Given the description of an element on the screen output the (x, y) to click on. 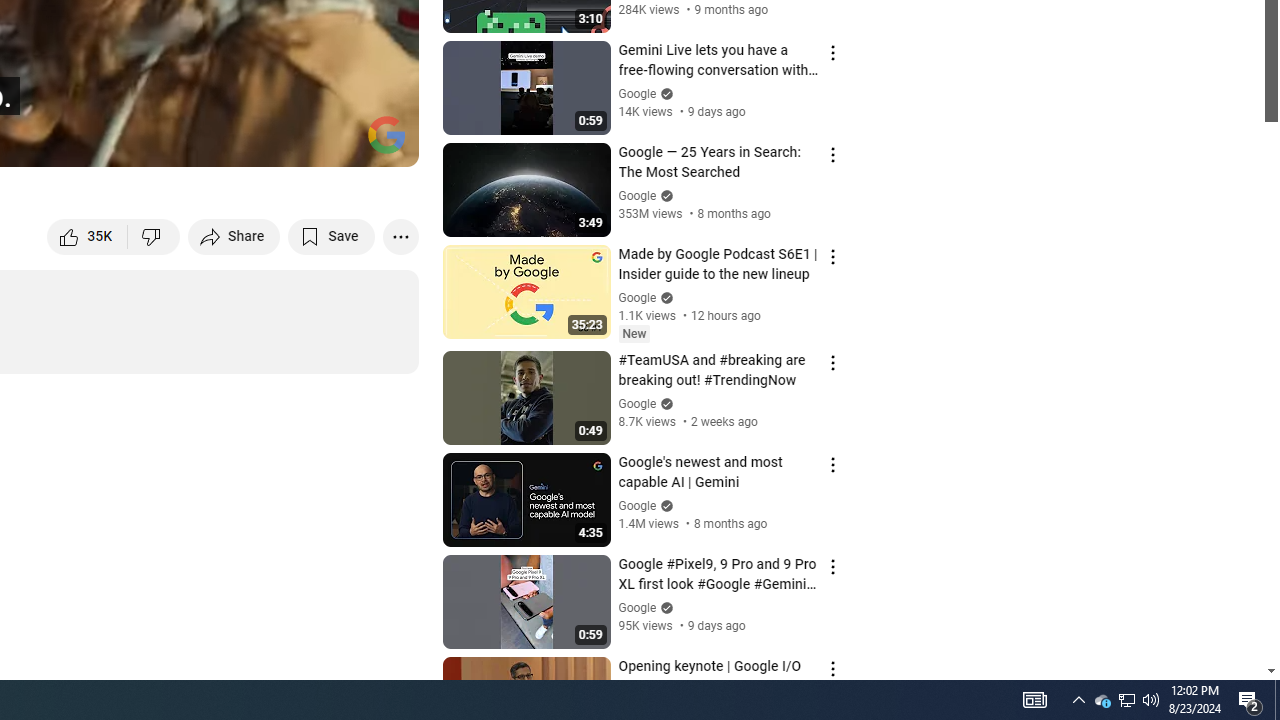
Verified (664, 606)
like this video along with 35,367 other people (88, 236)
Subtitles/closed captions unavailable (190, 142)
Full screen (f) (382, 142)
Save to playlist (331, 236)
More actions (399, 236)
New (634, 333)
Theater mode (t) (333, 142)
Share (234, 236)
Dislike this video (154, 236)
